Given the description of an element on the screen output the (x, y) to click on. 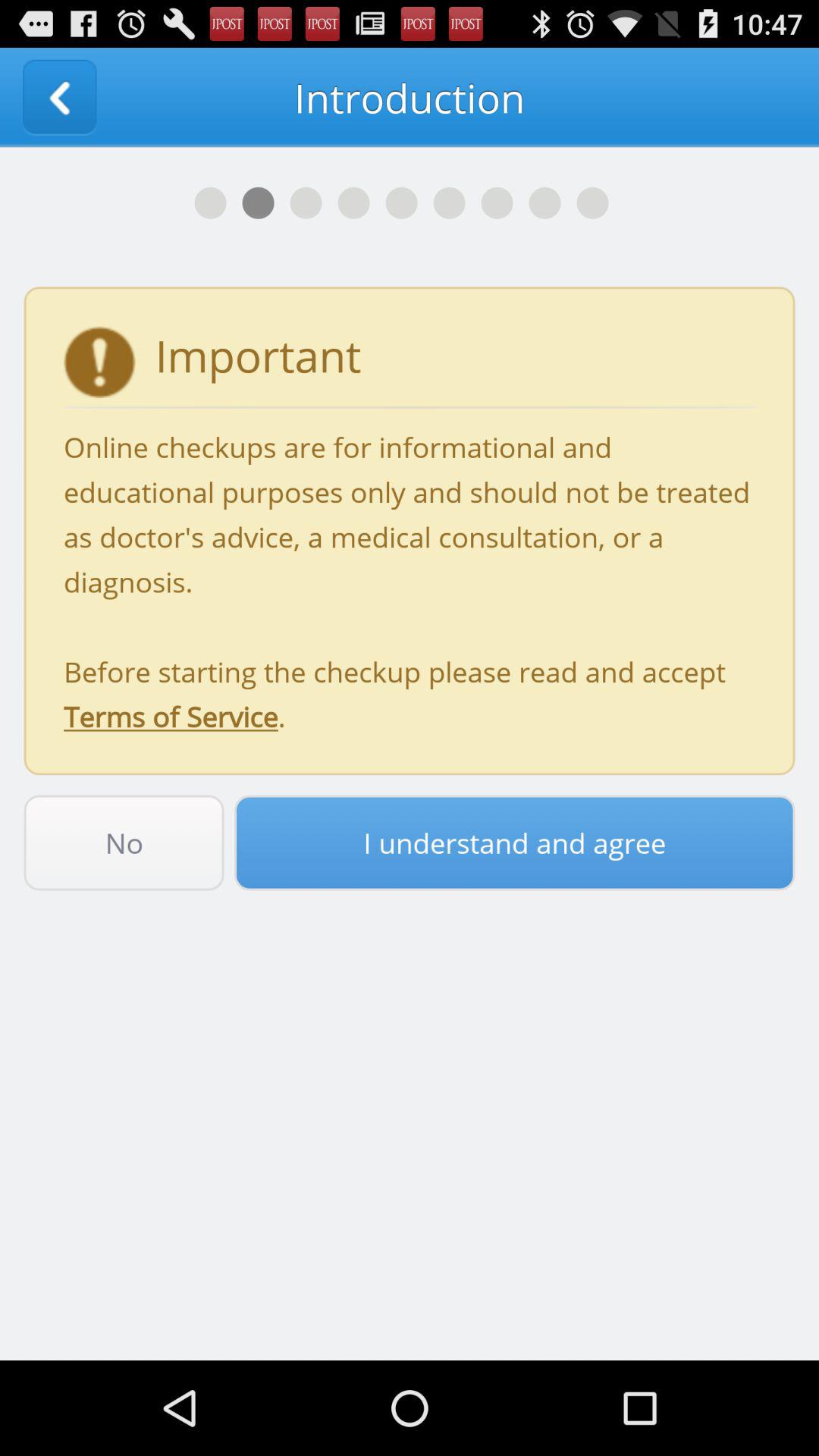
press the item to the right of the no icon (514, 842)
